Given the description of an element on the screen output the (x, y) to click on. 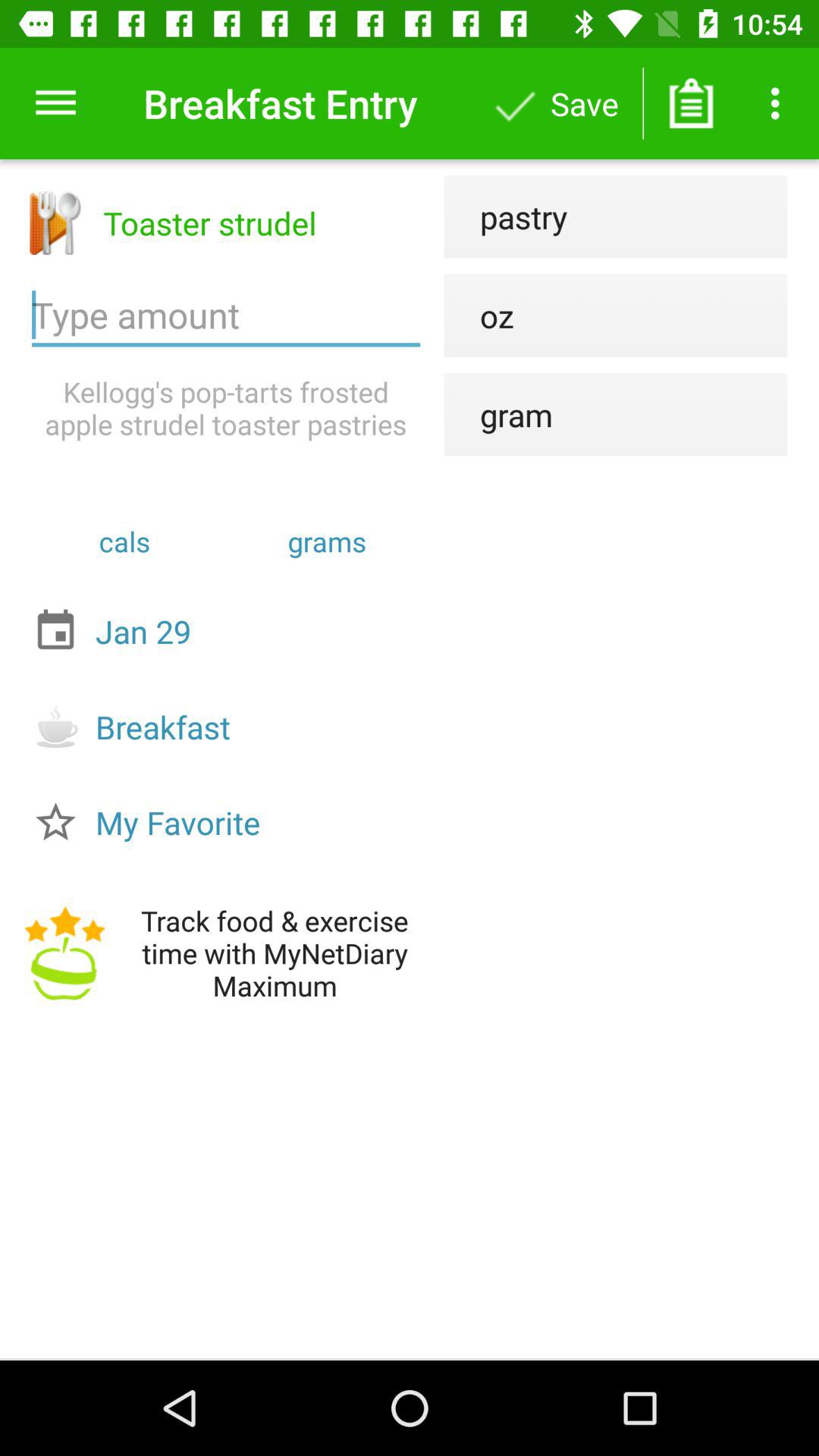
press the item to the left of   gram item (225, 408)
